Given the description of an element on the screen output the (x, y) to click on. 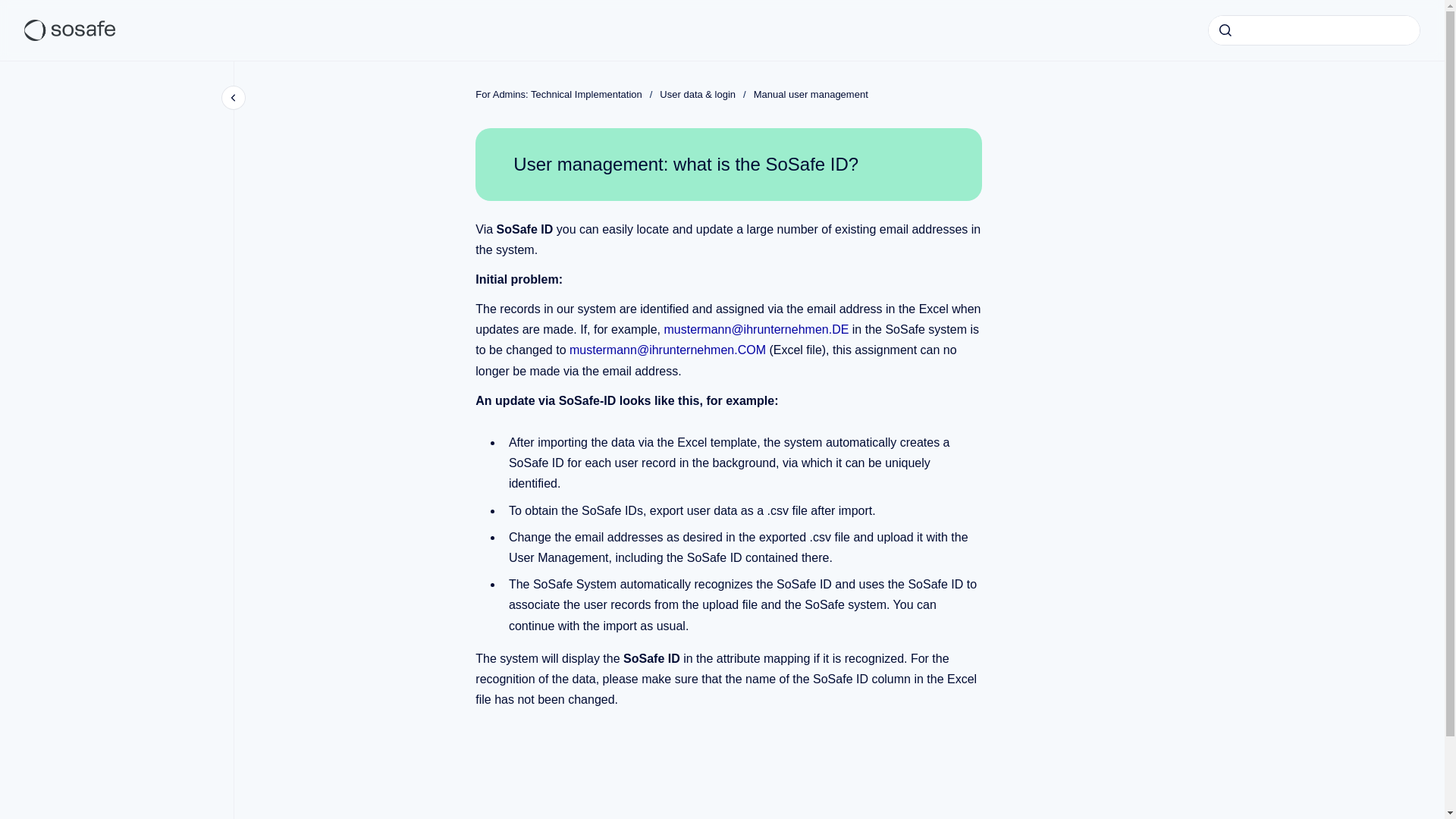
Manual user management (810, 94)
Go to homepage (69, 29)
For Admins: Technical Implementation (559, 94)
